Given the description of an element on the screen output the (x, y) to click on. 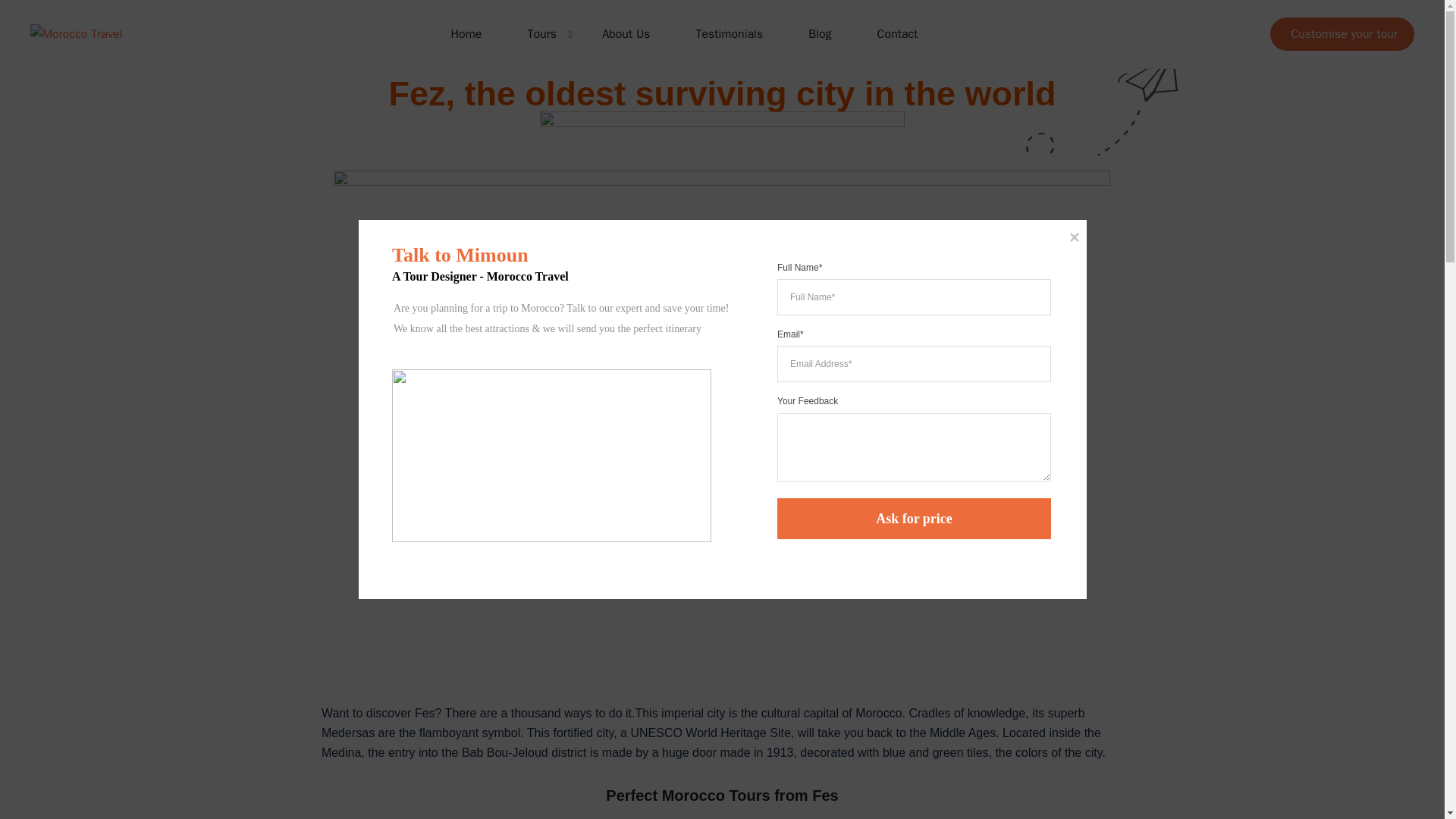
Blog (819, 33)
Contact (897, 33)
Customise your tour (1341, 33)
Tours (541, 33)
Testimonials (729, 33)
About Us (625, 33)
Home (466, 33)
Ask for price (912, 517)
